Given the description of an element on the screen output the (x, y) to click on. 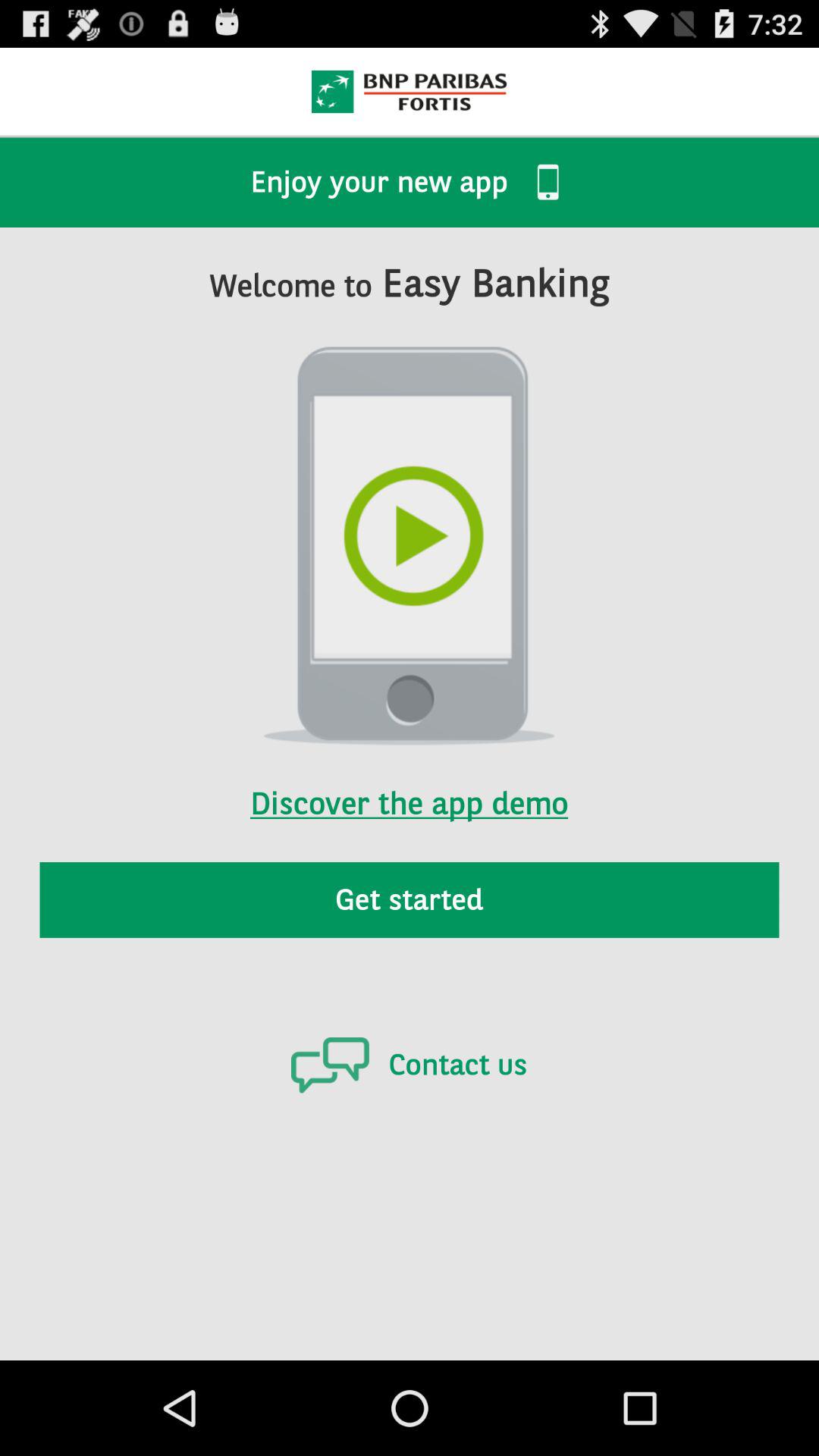
click the icon above the get started icon (409, 783)
